Given the description of an element on the screen output the (x, y) to click on. 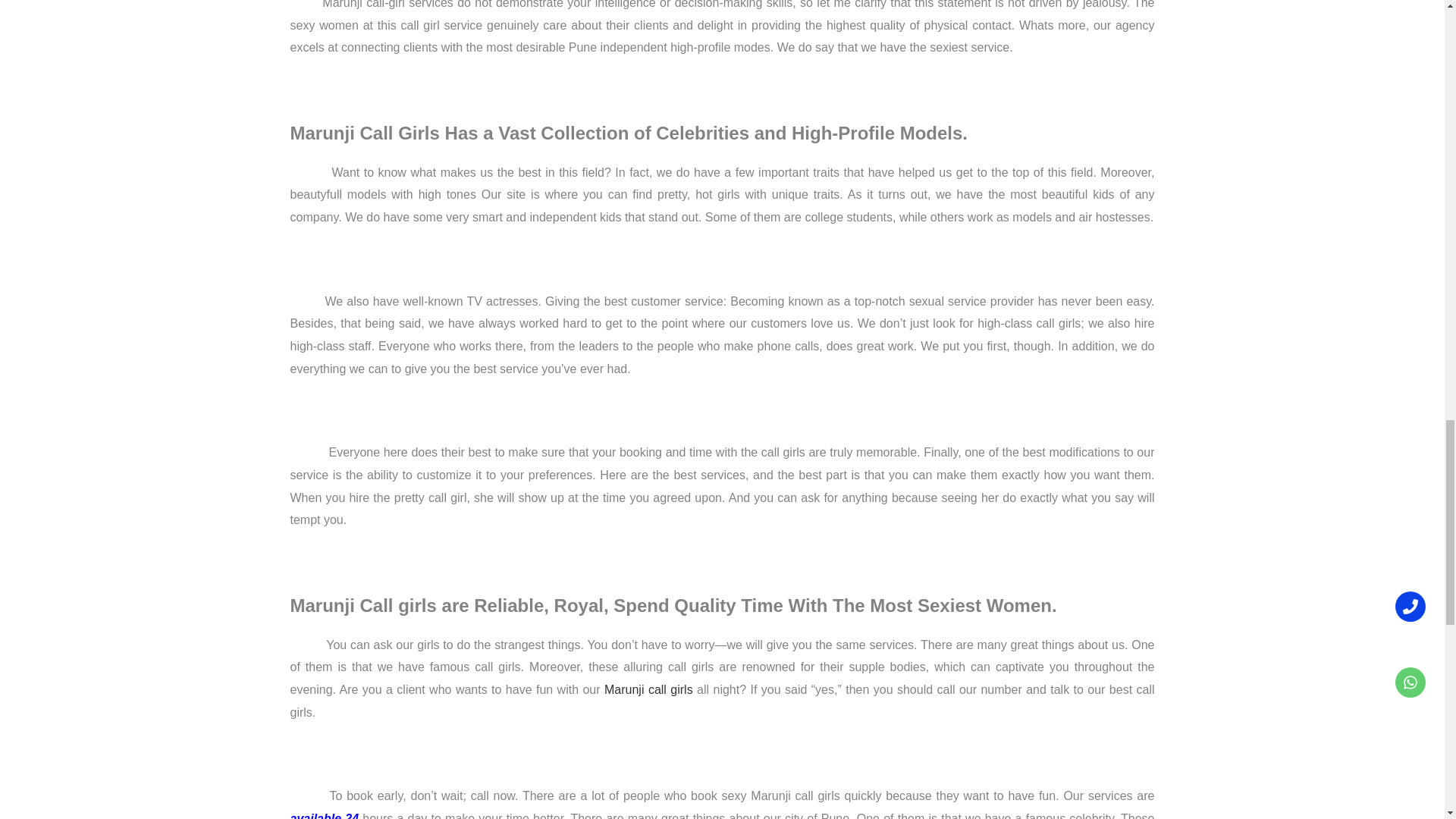
available 24 (323, 815)
